Given the description of an element on the screen output the (x, y) to click on. 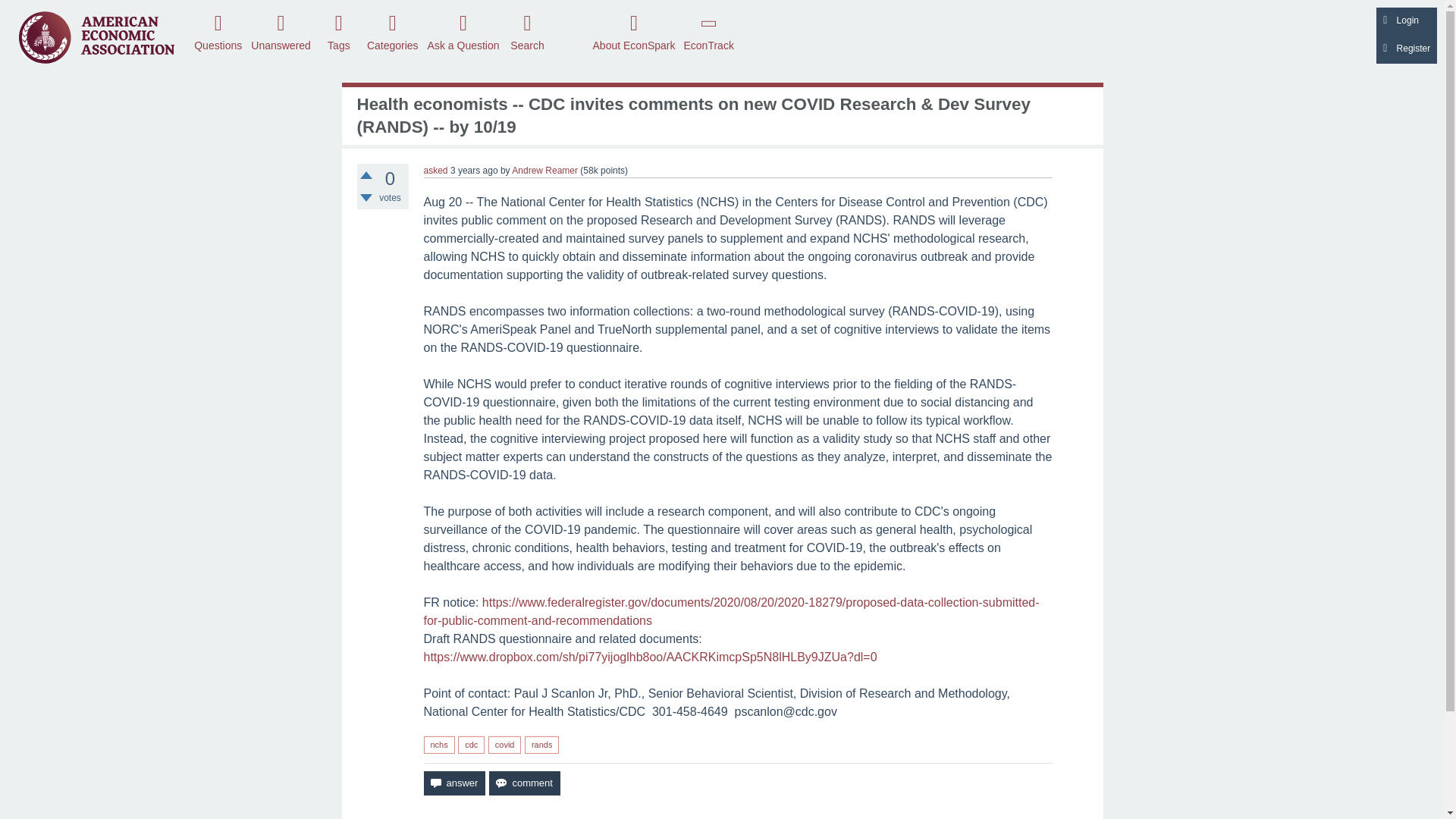
answer (453, 783)
Answer this question (453, 783)
Questions (218, 31)
nchs (438, 744)
Login (1406, 21)
asked (434, 170)
comment (524, 783)
Click to vote up (365, 175)
cdc (471, 744)
Andrew Reamer (545, 170)
EconTrack (707, 31)
Search (527, 31)
Add a comment on this question (524, 783)
About EconSpark (634, 31)
Economics Forum (96, 37)
